Given the description of an element on the screen output the (x, y) to click on. 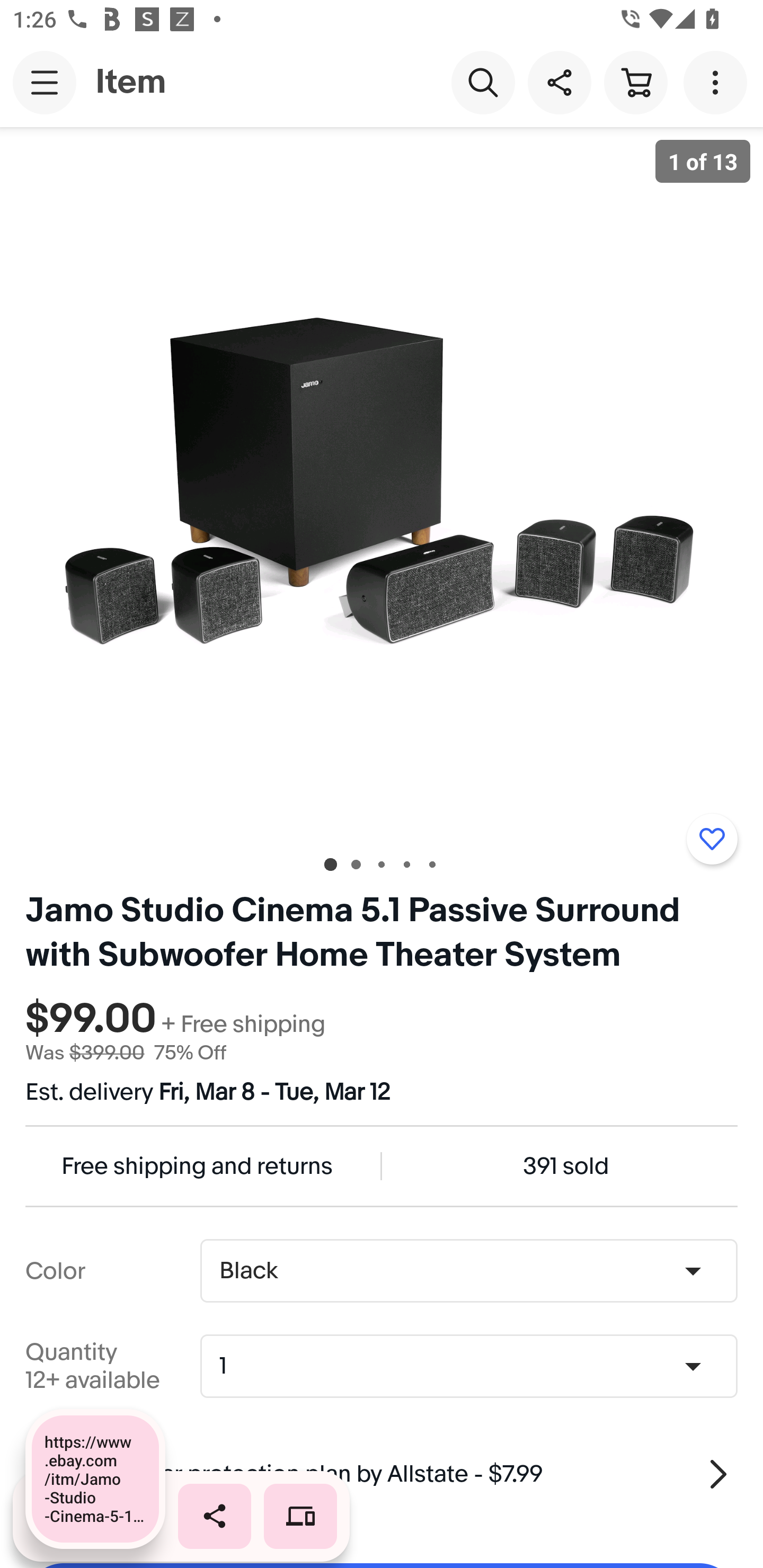
Main navigation, open (44, 82)
Search (482, 81)
Share this item (559, 81)
Cart button shopping cart (635, 81)
More options (718, 81)
Item image 1 of 13 (381, 482)
Add to watchlist (711, 838)
Color,Black Black (468, 1270)
Quantity,1,12+ available 1 (474, 1365)
